Given the description of an element on the screen output the (x, y) to click on. 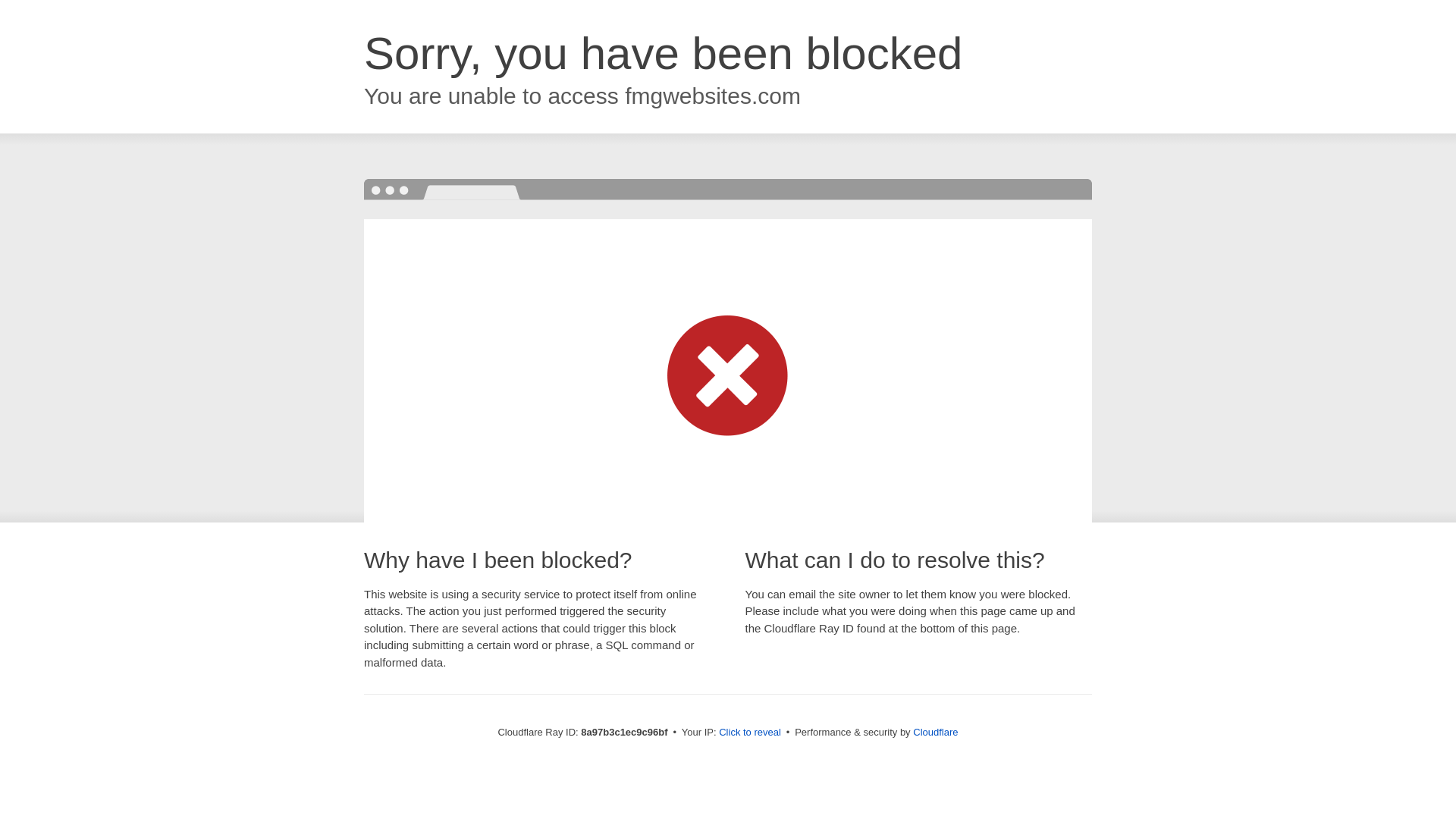
Click to reveal (749, 732)
Cloudflare (935, 731)
